Given the description of an element on the screen output the (x, y) to click on. 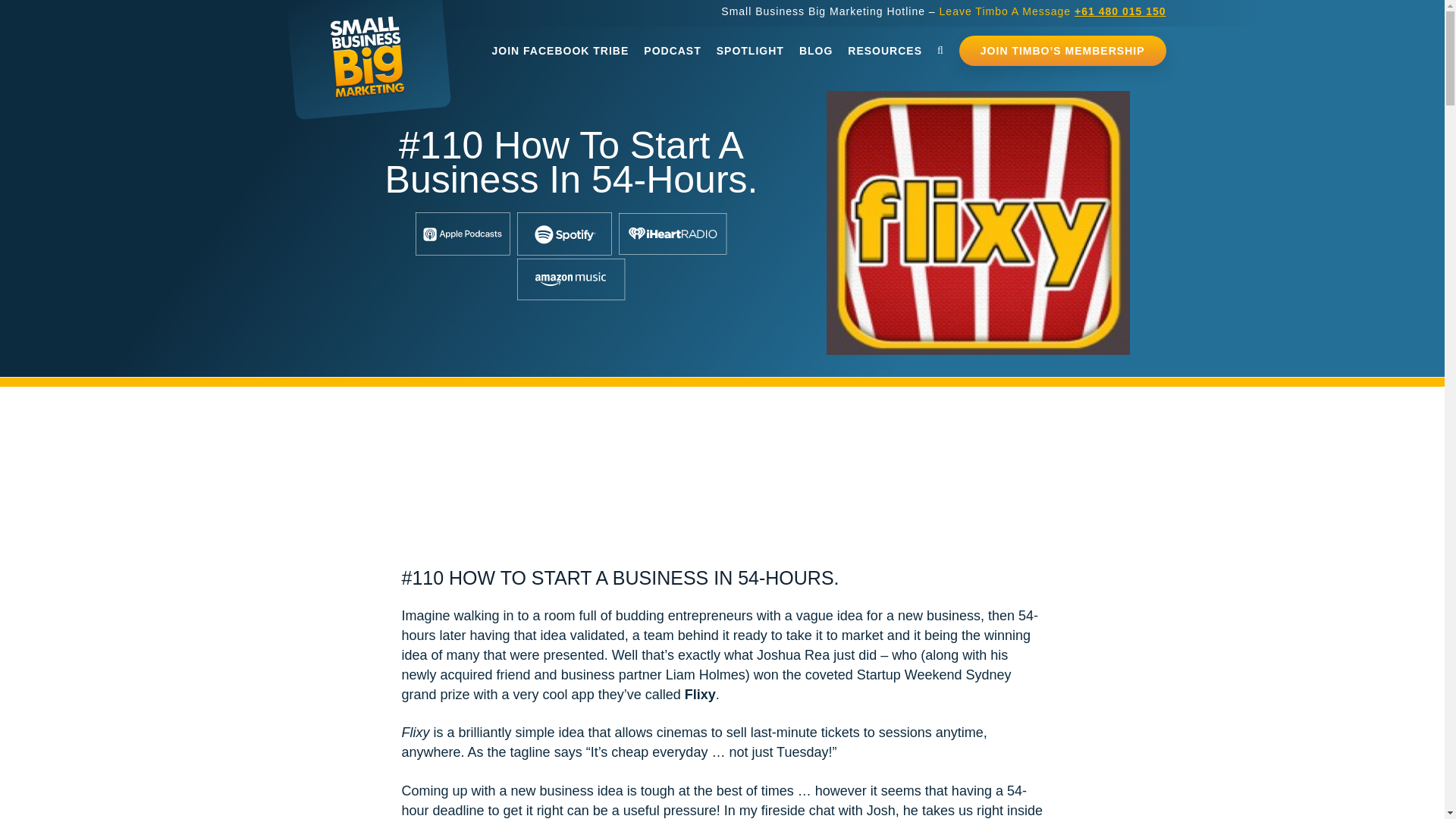
PODCAST (671, 51)
JOIN FACEBOOK TRIBE (559, 51)
SPOTLIGHT (750, 51)
RESOURCES (885, 51)
BLOG (816, 51)
